Given the description of an element on the screen output the (x, y) to click on. 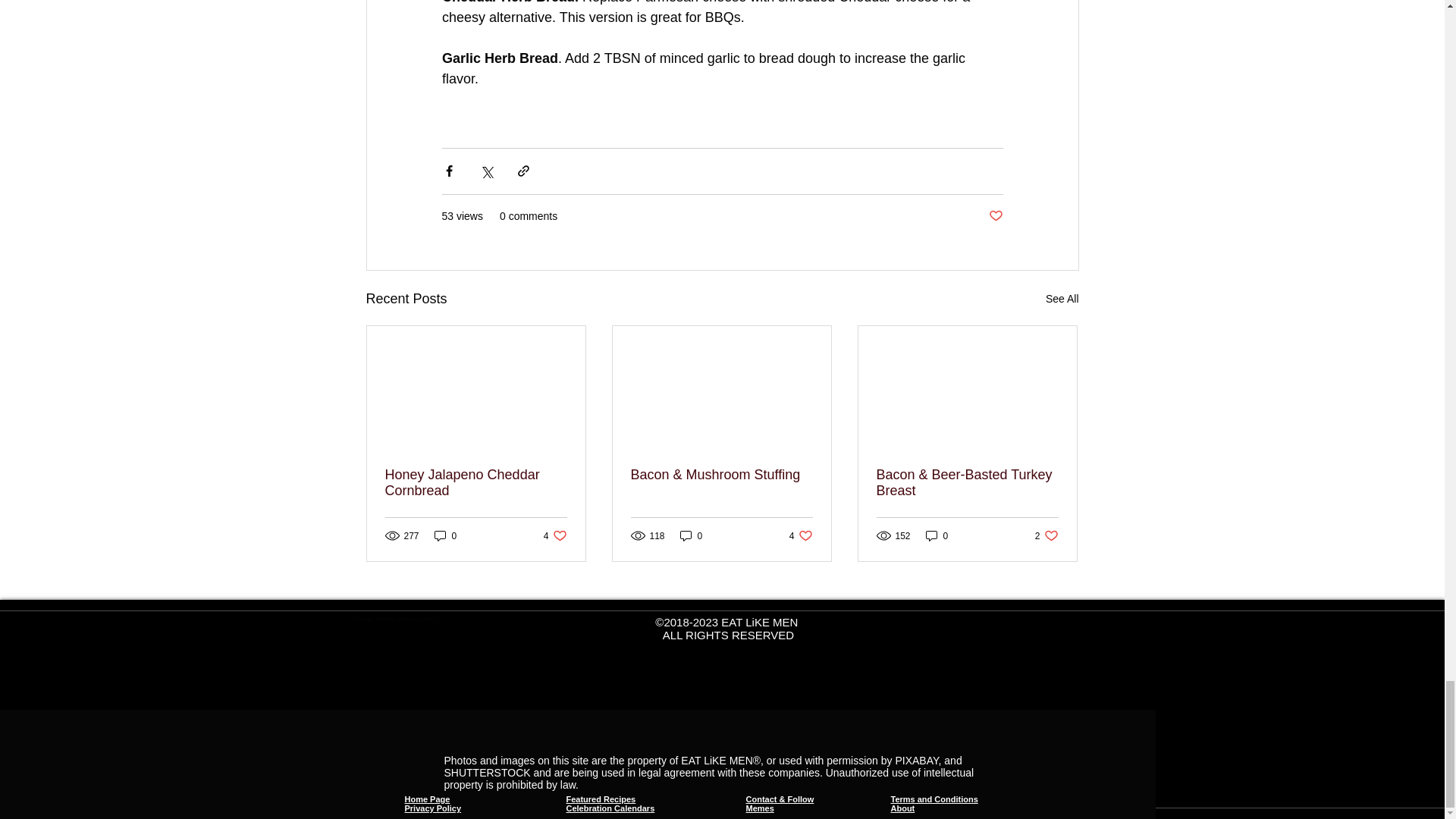
0 (937, 535)
0 (800, 535)
Post not marked as liked (691, 535)
Honey Jalapeno Cheddar Cornbread (995, 216)
0 (476, 482)
See All (555, 535)
